Given the description of an element on the screen output the (x, y) to click on. 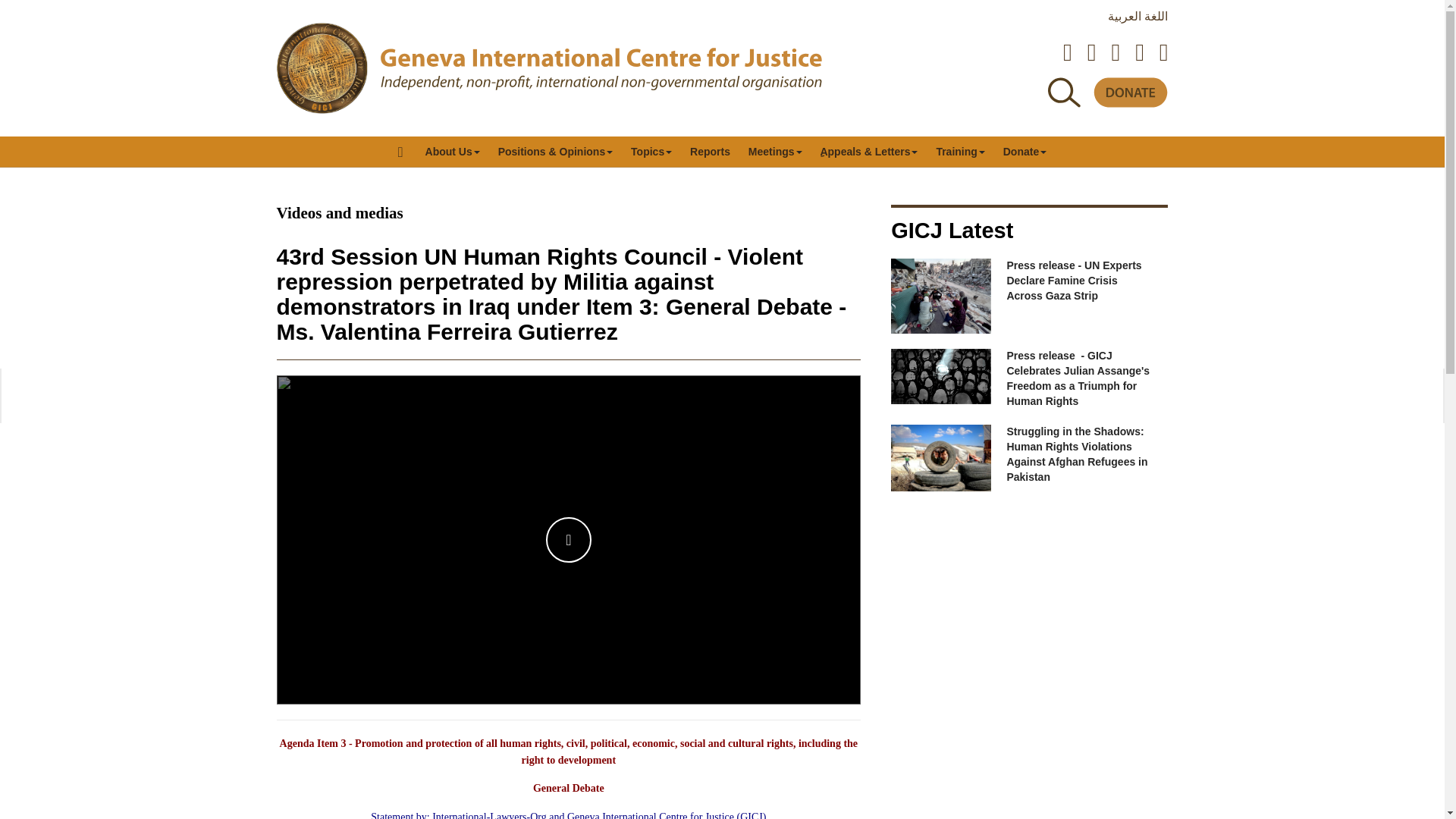
Geneva International Centre for Justice (321, 67)
Play (568, 539)
